Given the description of an element on the screen output the (x, y) to click on. 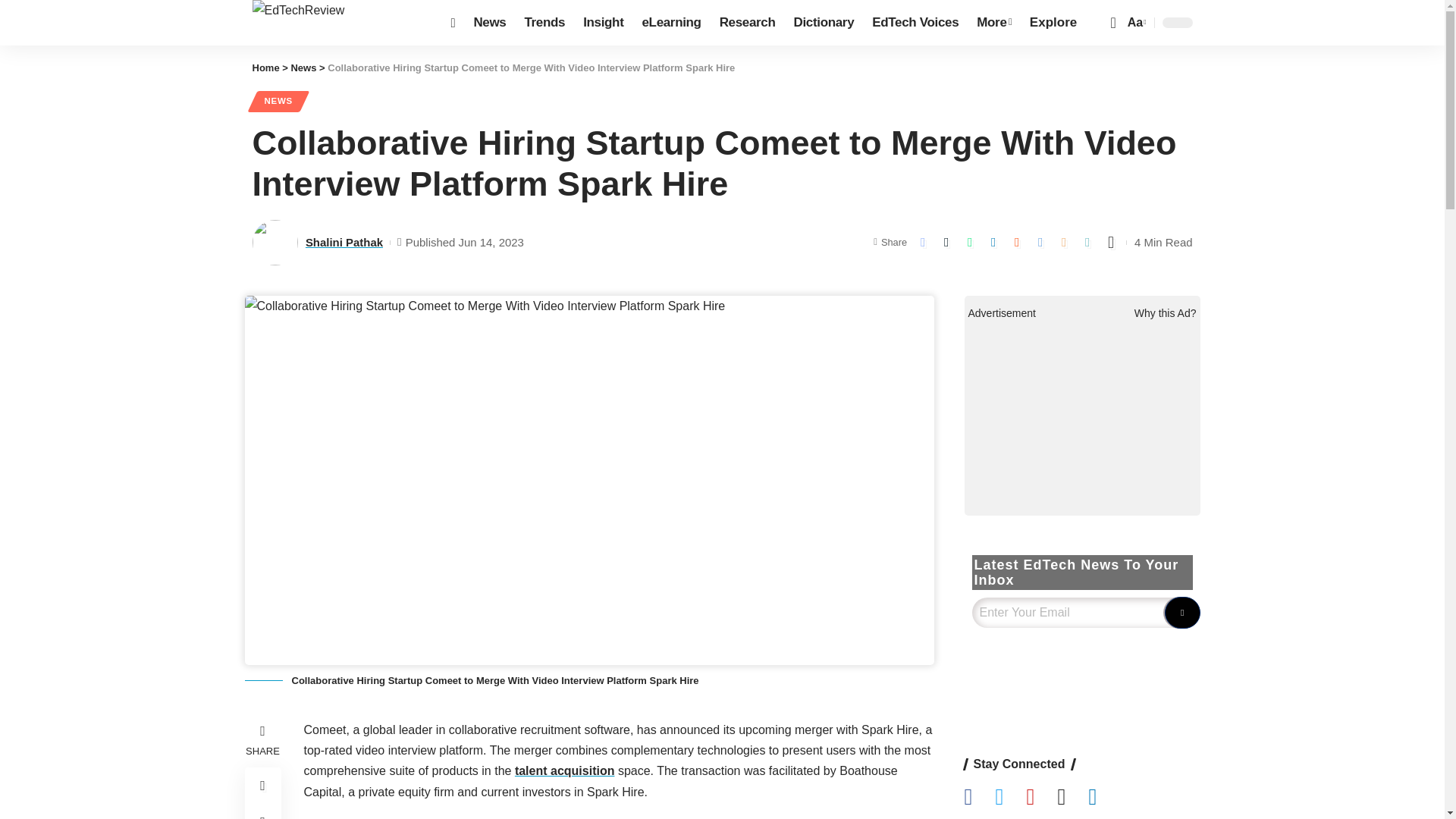
EdTech Voices (915, 22)
Insight (602, 22)
EdTechReview (338, 22)
Research (747, 22)
Go to the News Category archives. (302, 67)
Trends (544, 22)
Follow EdTechReview on Twitter (1010, 797)
Follow EdTechReview on Facebook (979, 797)
Follow EdTechReview on YouTube (1041, 797)
More (994, 22)
eLearning (670, 22)
Shalini-pathak (274, 242)
Follow EdTechReview on Instagram (1072, 797)
Explore (1053, 22)
Dictionary (823, 22)
